Given the description of an element on the screen output the (x, y) to click on. 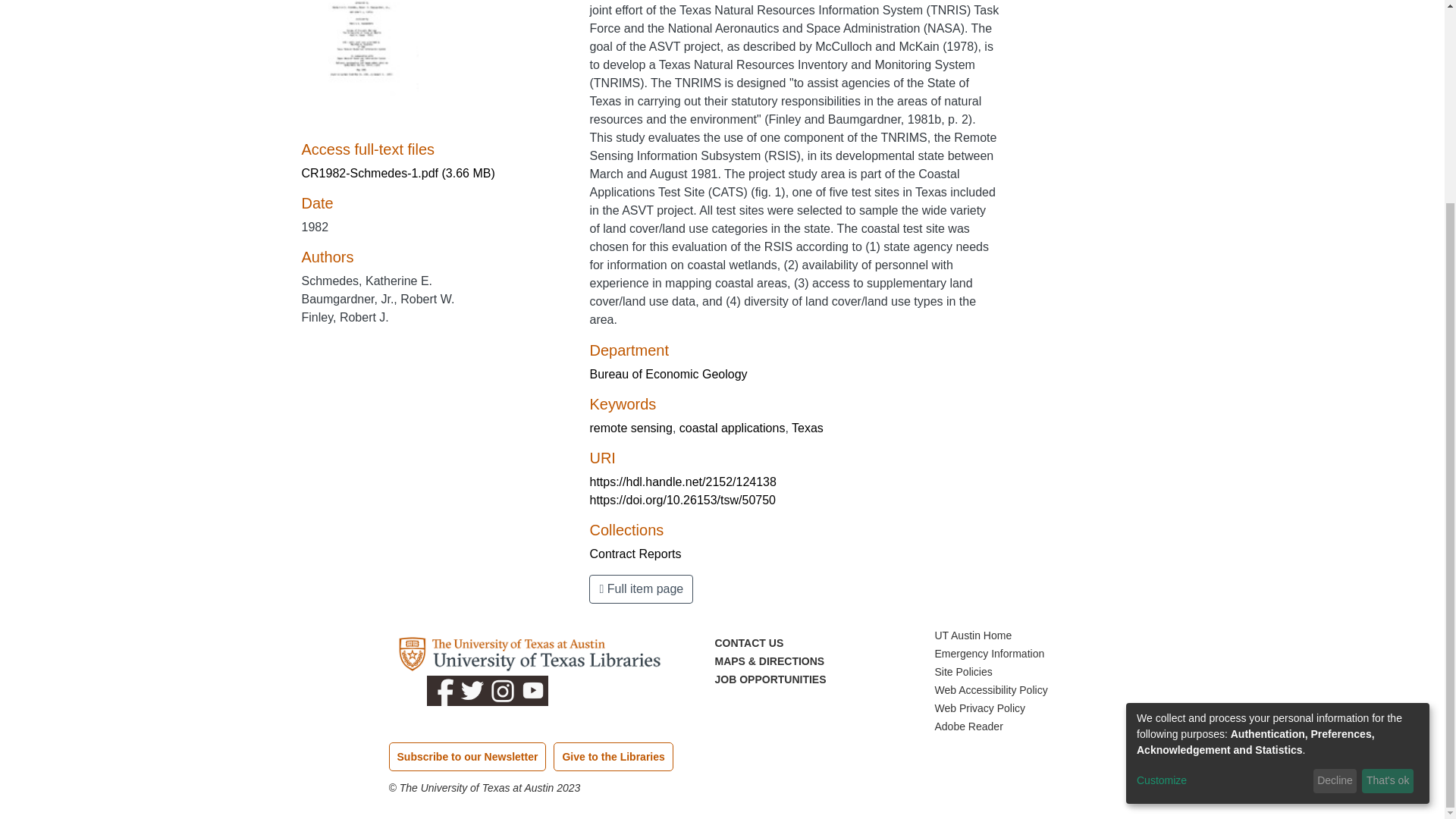
Bureau of Economic Geology (667, 373)
coastal applications (732, 427)
CONTACT US (748, 643)
Texas (808, 427)
Contract Reports (635, 553)
remote sensing (630, 427)
Full item page (641, 588)
